Given the description of an element on the screen output the (x, y) to click on. 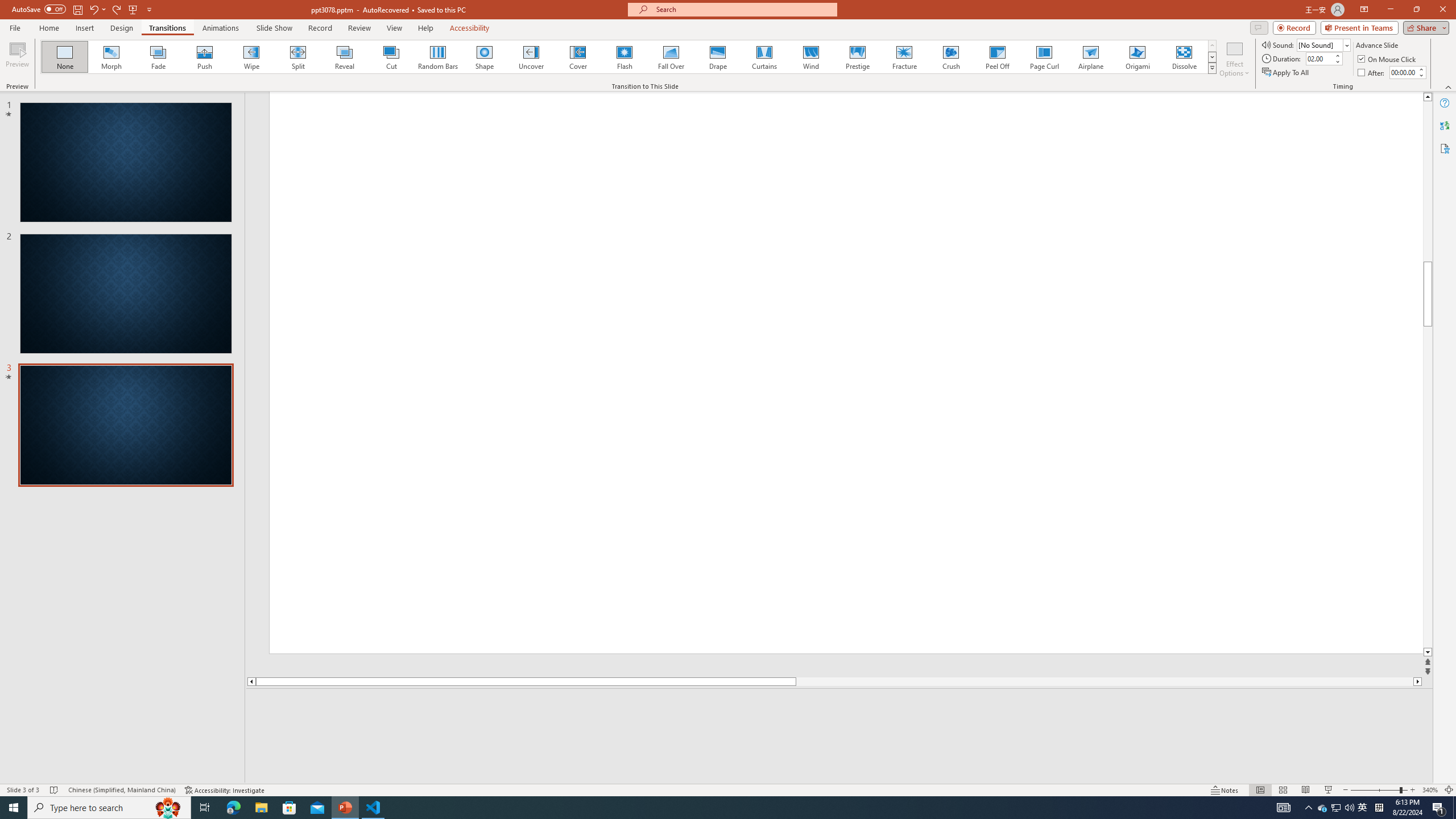
Curtains (764, 56)
Wind (810, 56)
Wipe (251, 56)
Shape (484, 56)
Random Bars (437, 56)
